Given the description of an element on the screen output the (x, y) to click on. 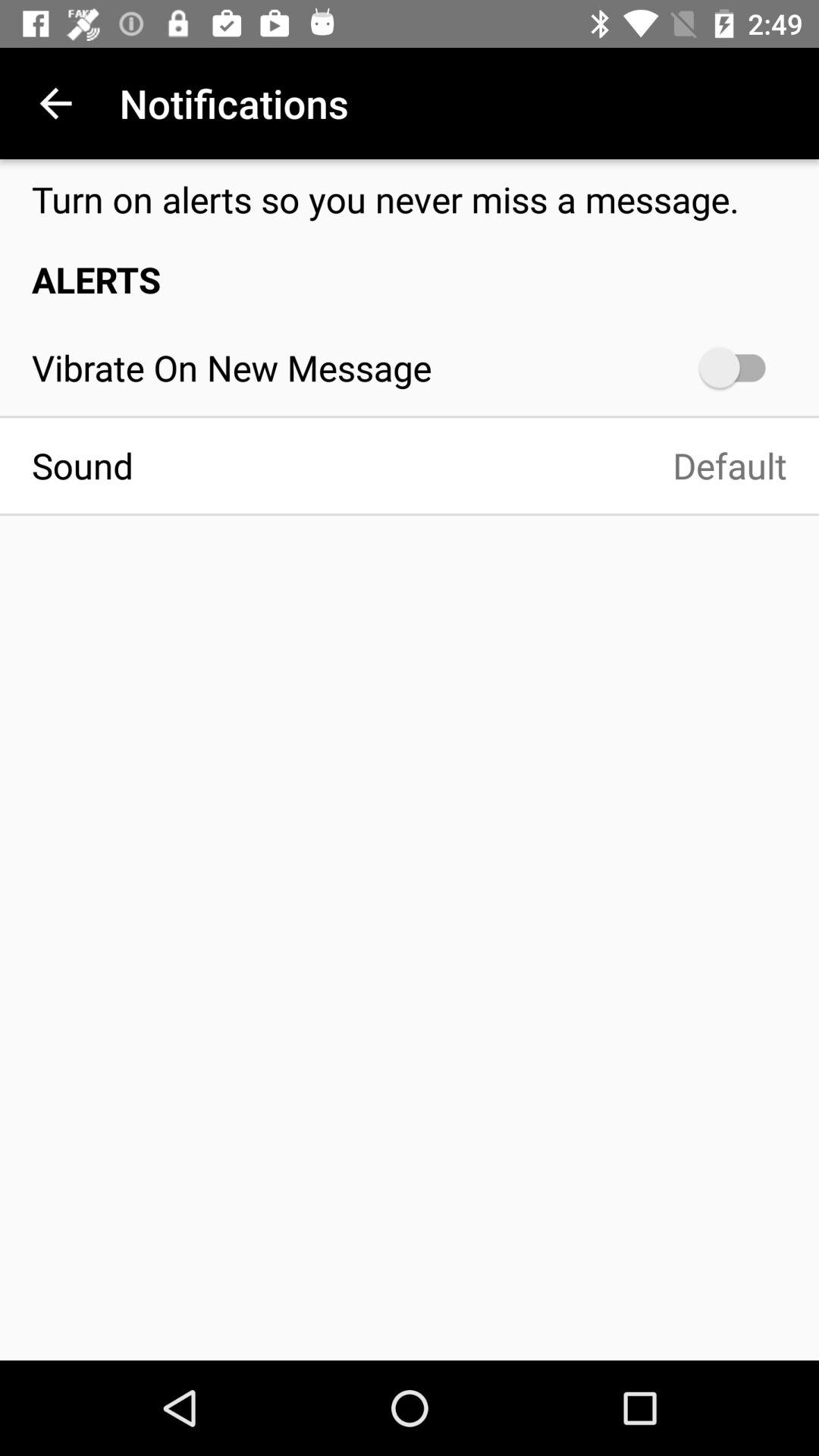
turn on default icon (476, 465)
